Given the description of an element on the screen output the (x, y) to click on. 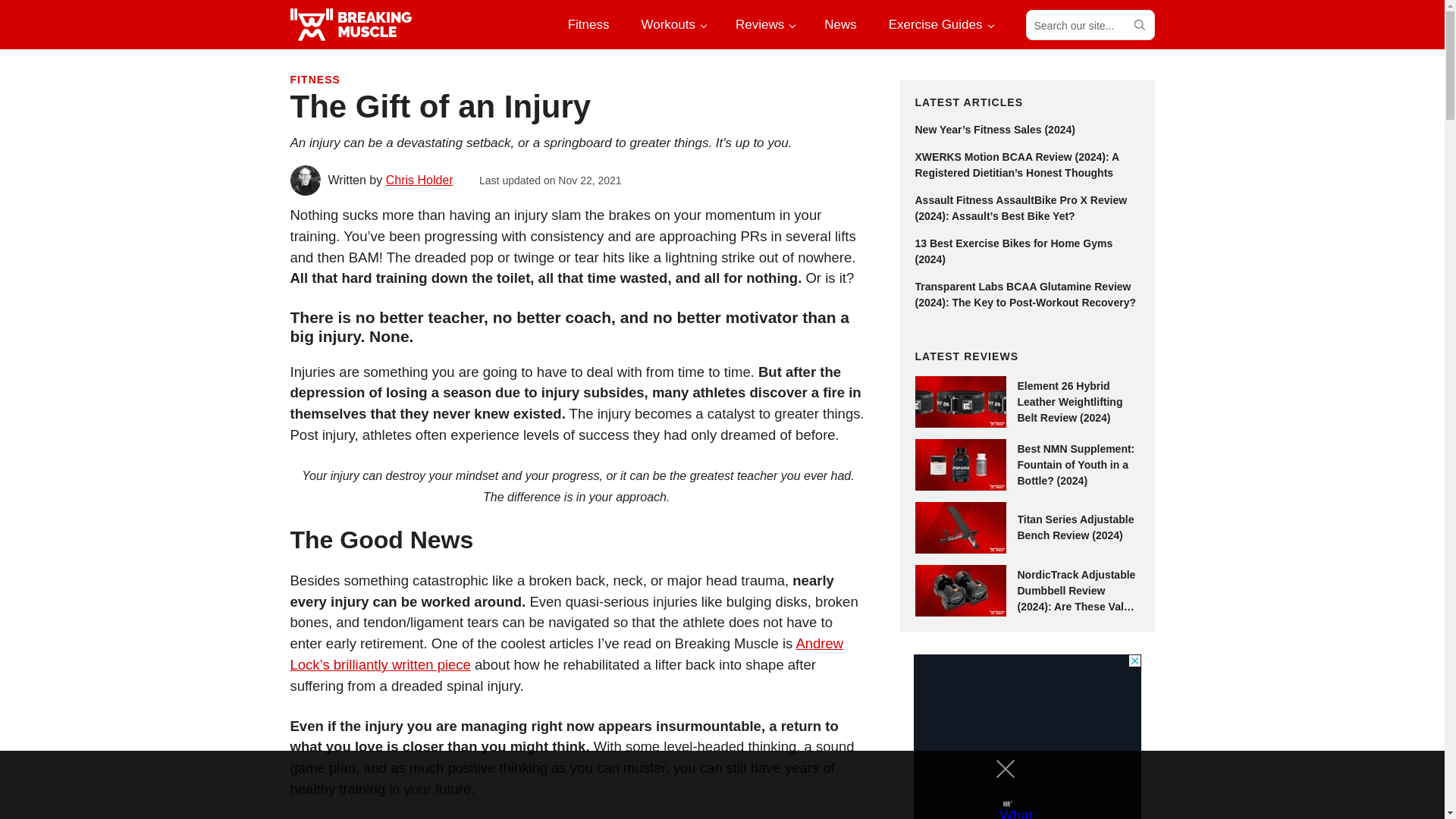
3rd party ad content (1026, 736)
Reviews (764, 24)
Workouts (672, 24)
Submit search (1138, 24)
3rd party ad content (708, 785)
Fitness (588, 24)
Submit search (1138, 24)
